Given the description of an element on the screen output the (x, y) to click on. 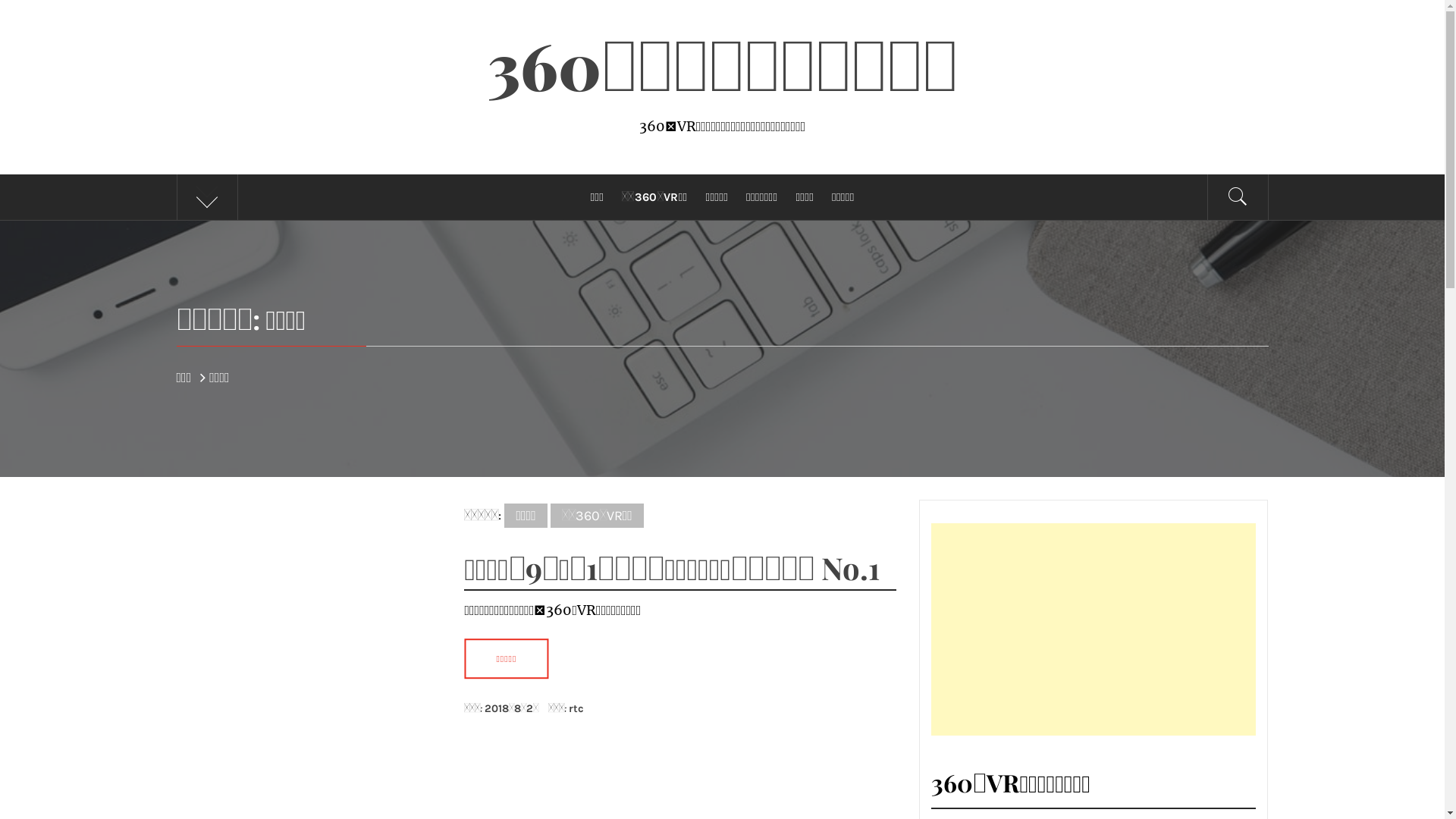
Advertisement Element type: hover (1093, 629)
rtc Element type: text (575, 708)
